Given the description of an element on the screen output the (x, y) to click on. 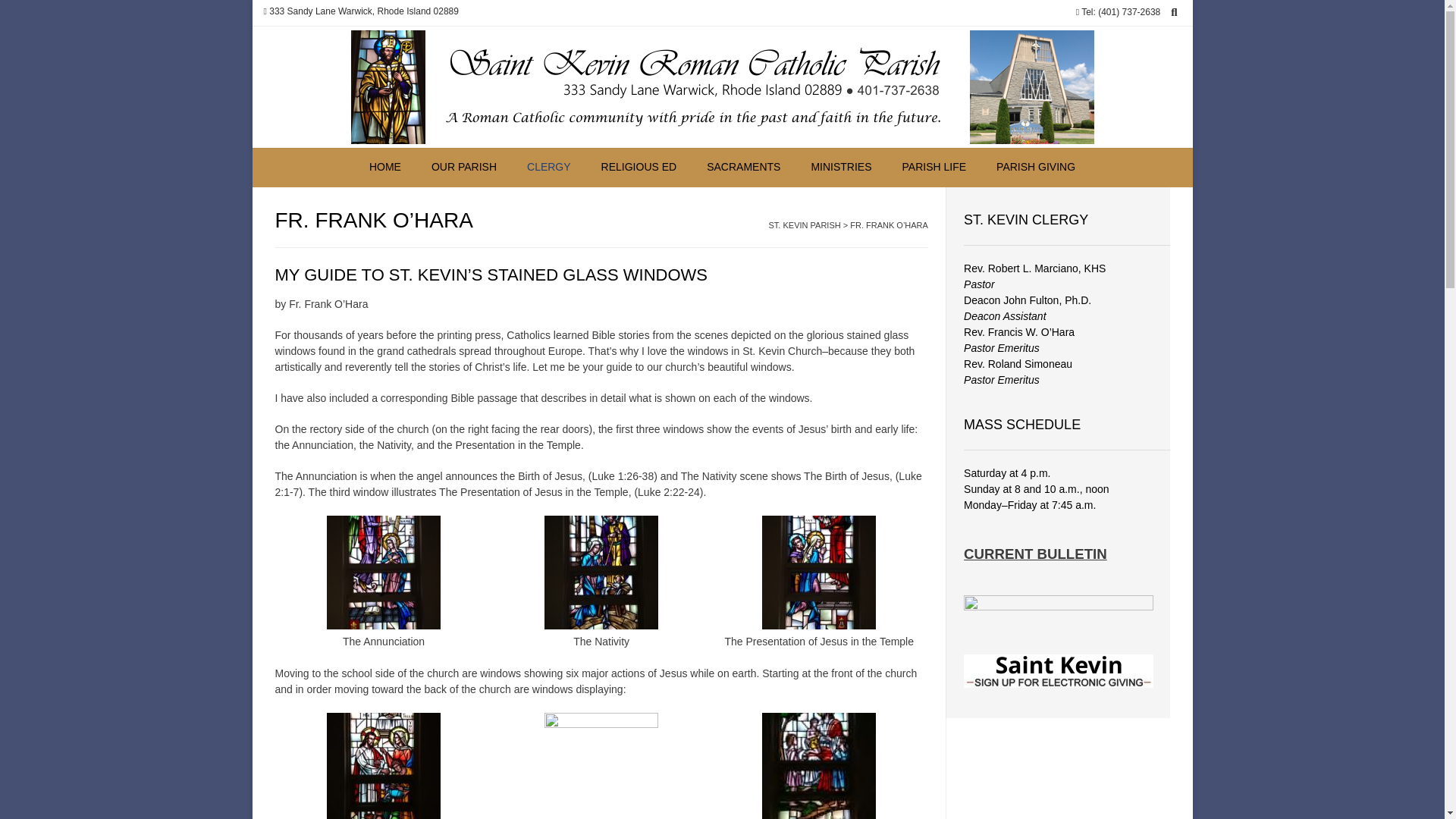
OUR PARISH (464, 167)
St. Kevin Parish (721, 87)
MINISTRIES (840, 167)
HOME (384, 167)
RELIGIOUS ED (639, 167)
PARISH GIVING (1035, 167)
Go to St. Kevin Parish. (804, 225)
PARISH LIFE (933, 167)
CLERGY (549, 167)
SACRAMENTS (742, 167)
